Given the description of an element on the screen output the (x, y) to click on. 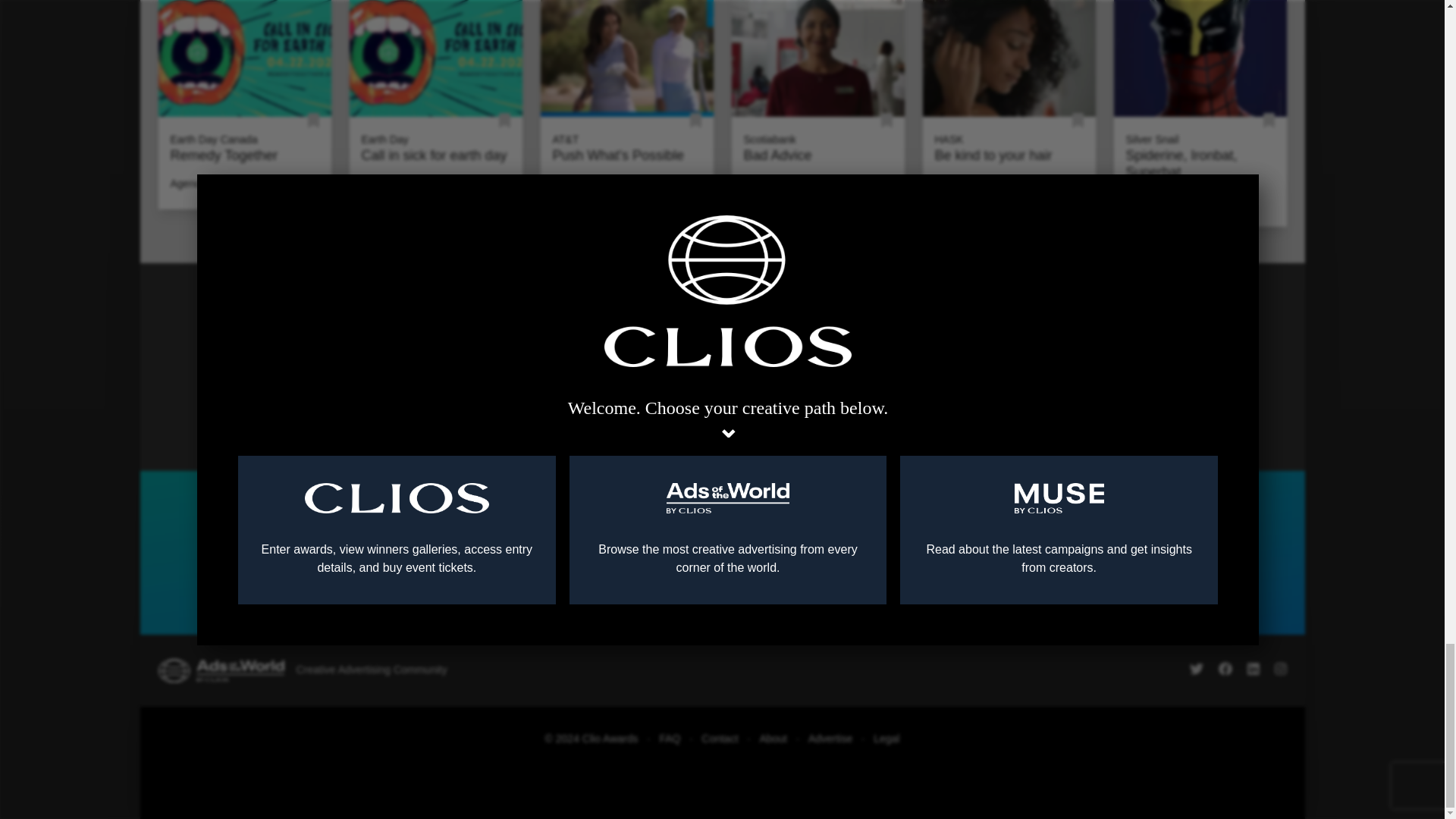
Login to Bookmark (1077, 121)
Login to Bookmark (886, 121)
Login to Bookmark (312, 121)
Login to Bookmark (1269, 121)
Login to Bookmark (695, 121)
Login to Bookmark (505, 121)
